Given the description of an element on the screen output the (x, y) to click on. 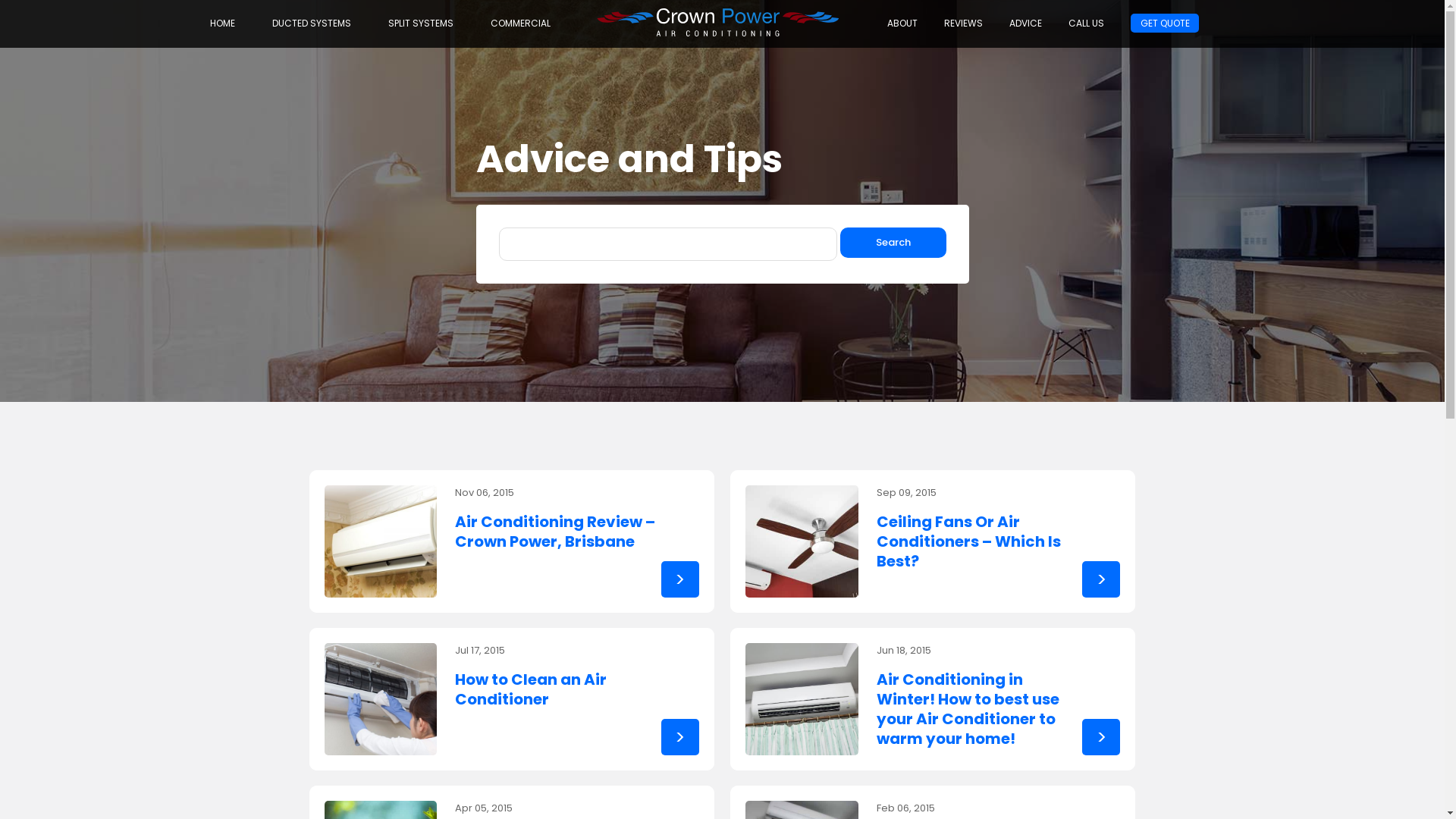
COMMERCIAL Element type: text (520, 22)
> Element type: text (680, 736)
> Element type: text (1101, 736)
ADVICE Element type: text (1025, 22)
> Element type: text (680, 579)
HOME Element type: text (222, 22)
GET QUOTE Element type: text (1164, 22)
CALL US Element type: text (1086, 22)
Search Element type: text (893, 242)
DUCTED SYSTEMS Element type: text (311, 22)
> Element type: text (1101, 579)
REVIEWS Element type: text (963, 22)
SPLIT SYSTEMS Element type: text (420, 22)
ABOUT Element type: text (902, 22)
